Given the description of an element on the screen output the (x, y) to click on. 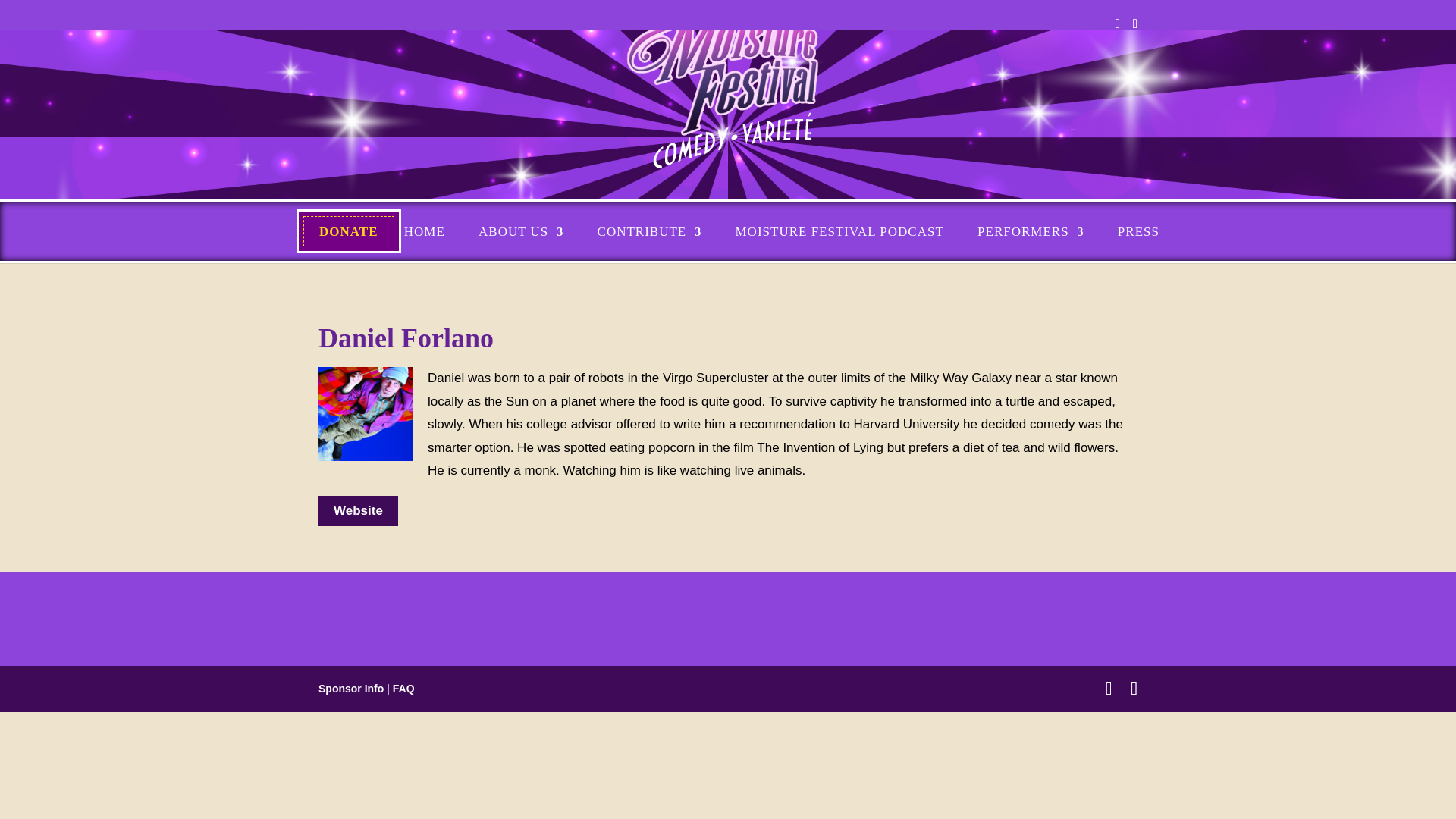
PERFORMERS (1030, 231)
ABOUT US (521, 231)
HOME (424, 231)
DONATE (347, 231)
CONTRIBUTE (648, 231)
PRESS (1138, 231)
MOISTURE FESTIVAL PODCAST (839, 231)
